Given the description of an element on the screen output the (x, y) to click on. 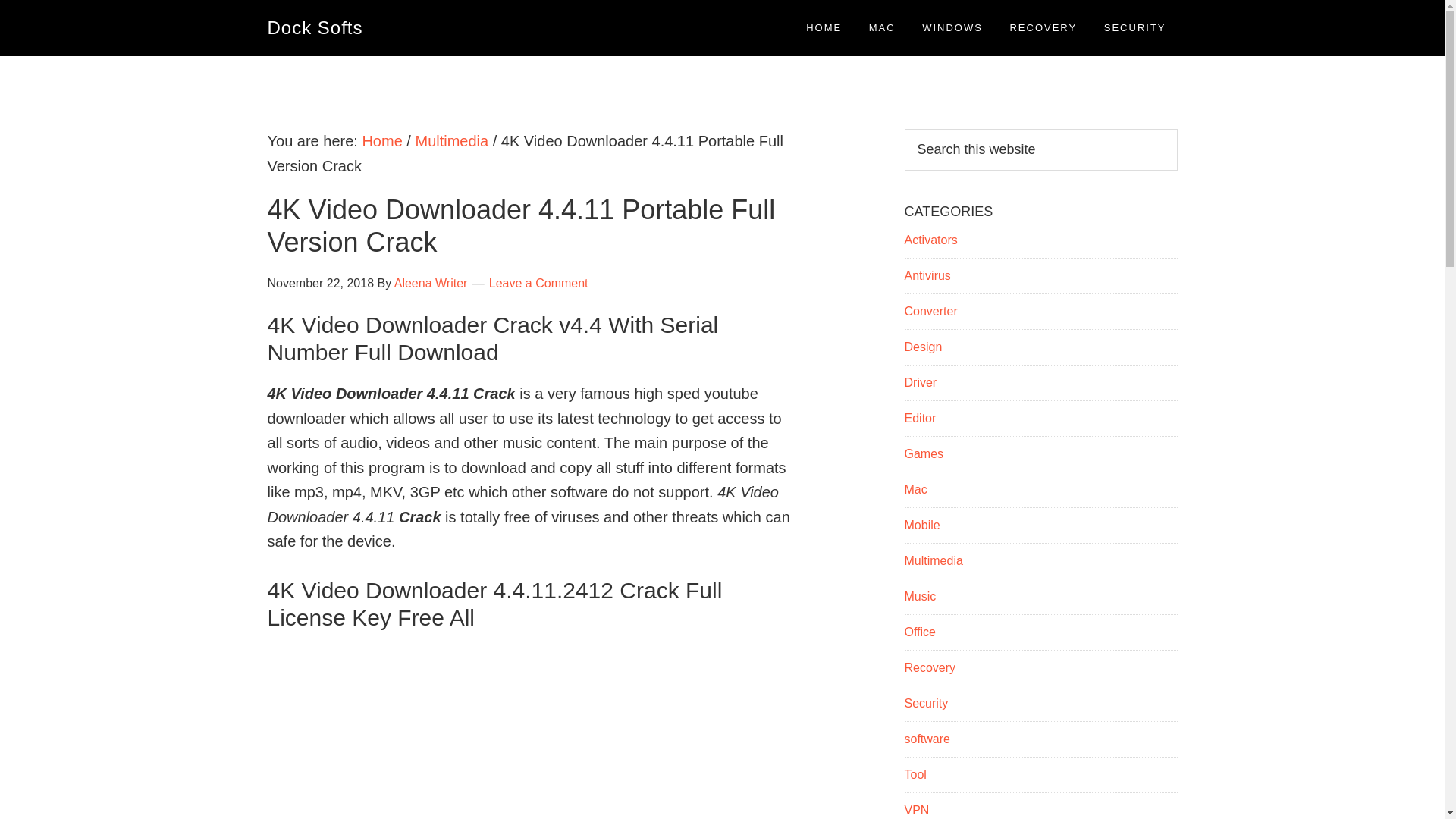
Security (925, 703)
MAC (882, 27)
Mac (915, 489)
Home (381, 140)
HOME (823, 27)
software (926, 738)
Music (920, 595)
Dock Softs (314, 27)
